Given the description of an element on the screen output the (x, y) to click on. 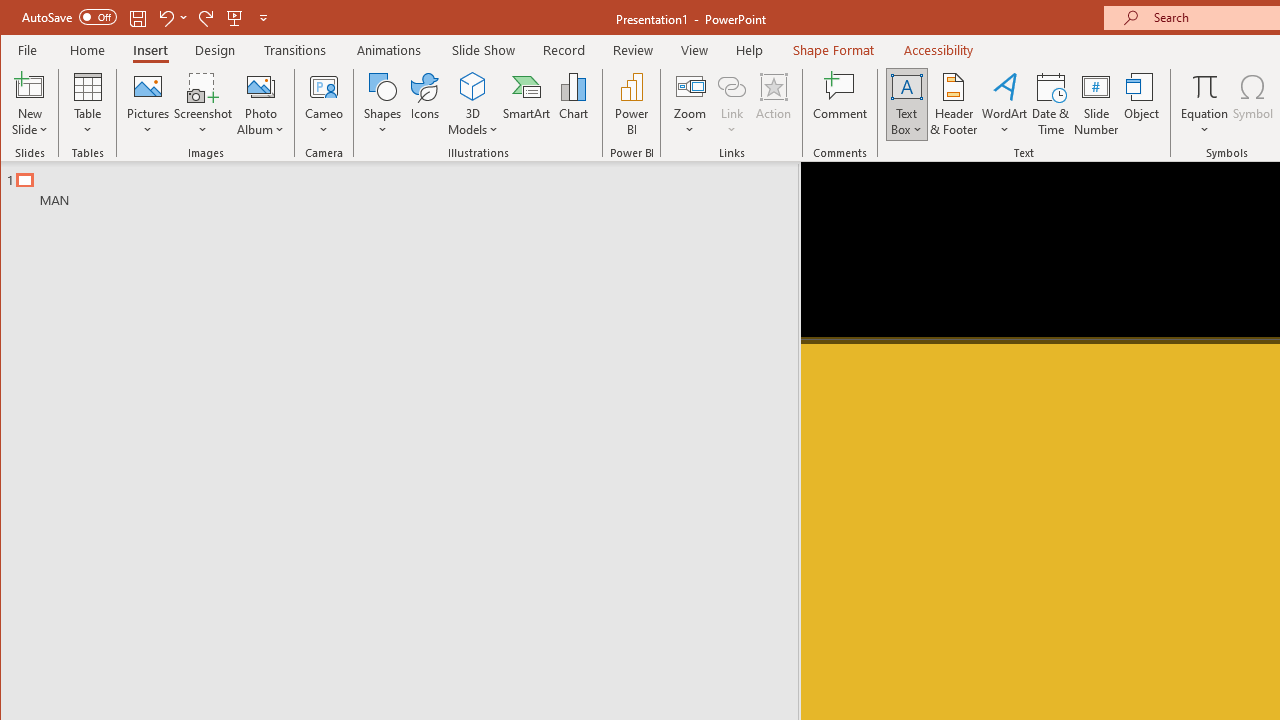
Draw Horizontal Text Box (906, 86)
Icons (424, 104)
Table (87, 104)
Equation (1204, 86)
3D Models (472, 86)
3D Models (472, 104)
